Given the description of an element on the screen output the (x, y) to click on. 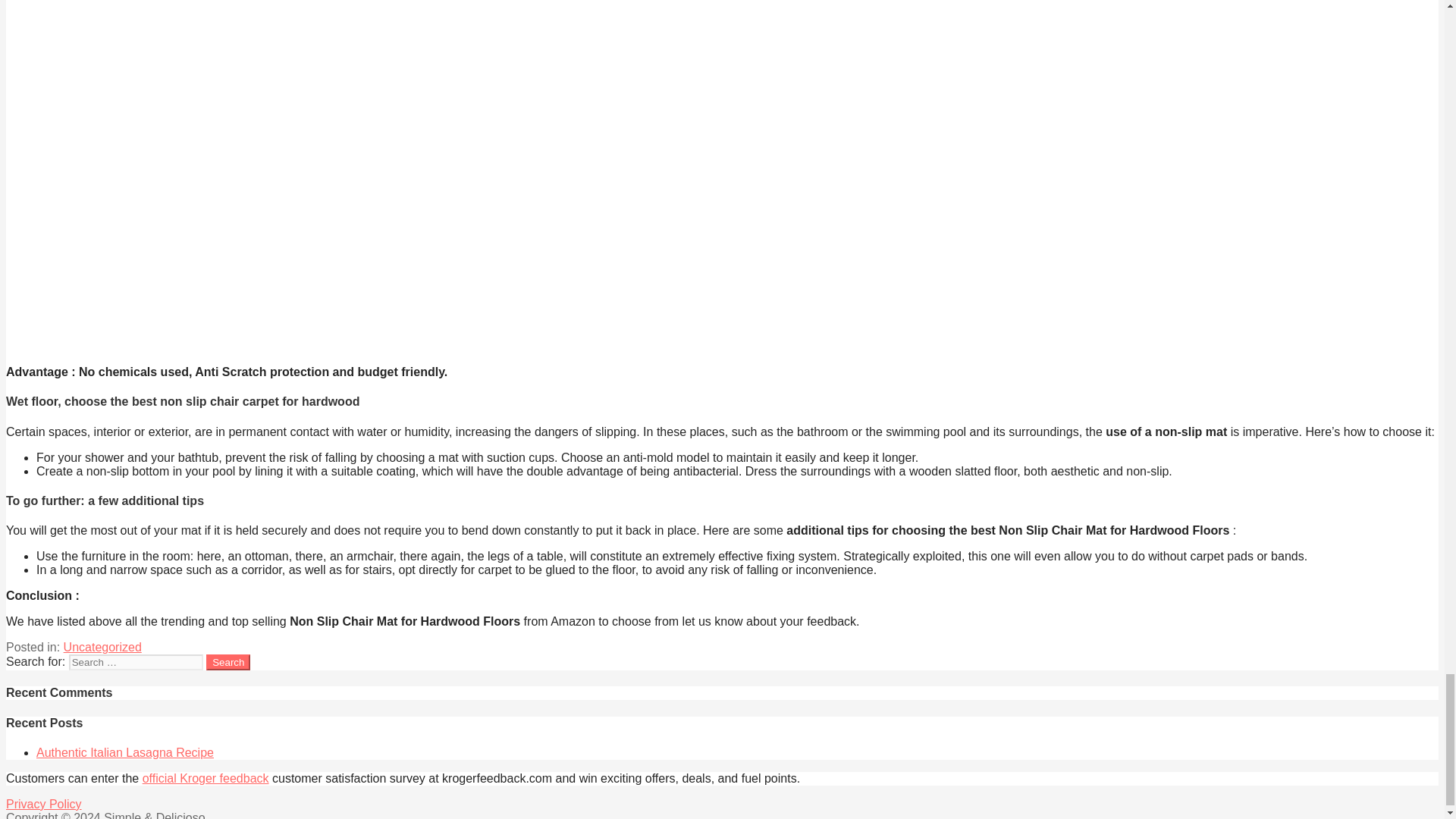
Uncategorized (102, 646)
Search (228, 662)
Privacy Policy (43, 803)
official Kroger feedback (205, 778)
Search (228, 662)
Search (228, 662)
Authentic Italian Lasagna Recipe (125, 752)
